Given the description of an element on the screen output the (x, y) to click on. 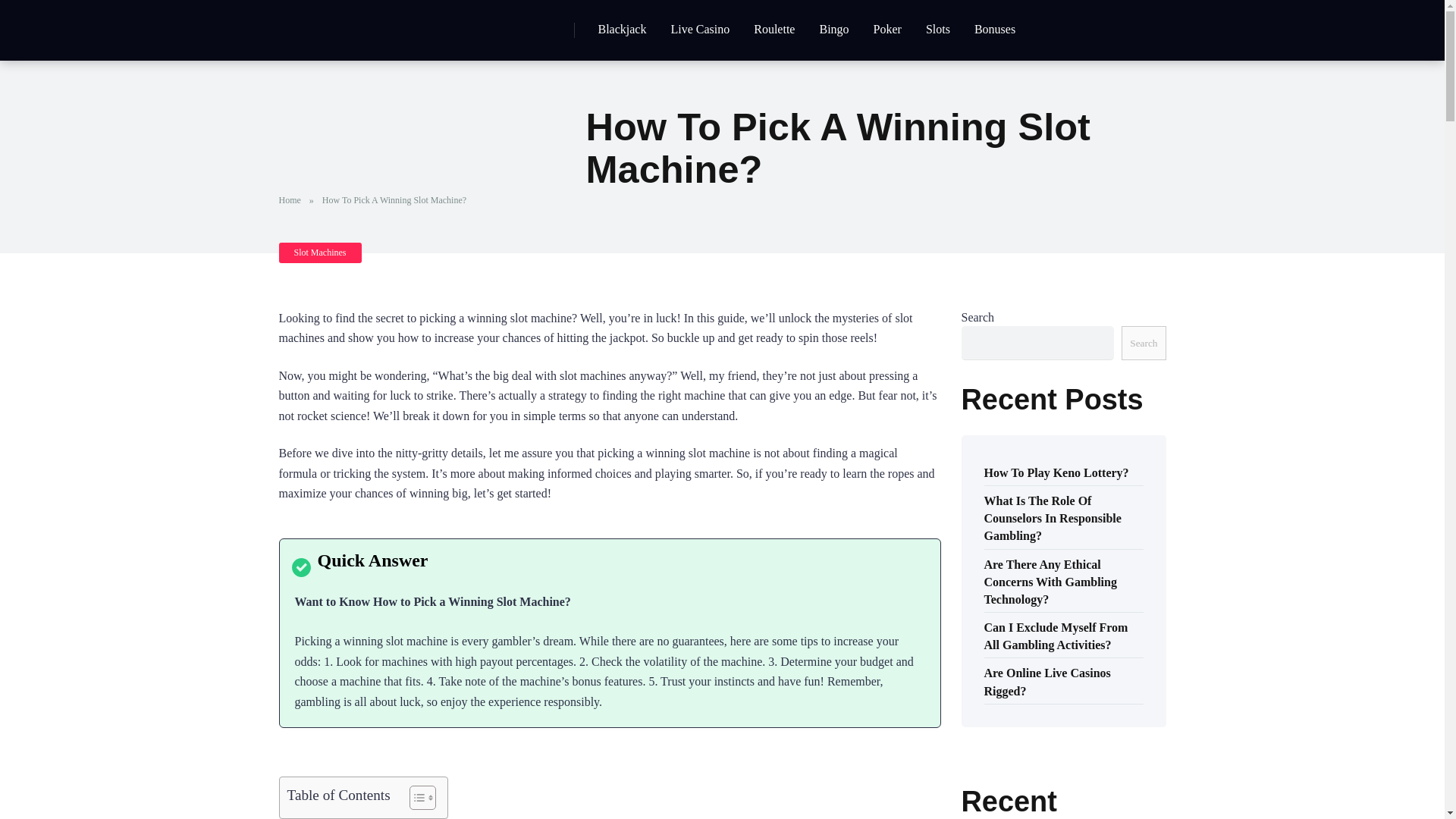
Live Casino (699, 30)
Are Online Live Casinos Rigged? (1047, 680)
How To Play Keno Lottery? (1056, 471)
Slot Machines (320, 252)
Home (293, 199)
Can I Exclude Myself From All Gambling Activities? (1056, 635)
Bonuses (994, 30)
Are There Any Ethical Concerns With Gambling Technology? (1050, 580)
Roulette (773, 30)
Search (1143, 342)
